Given the description of an element on the screen output the (x, y) to click on. 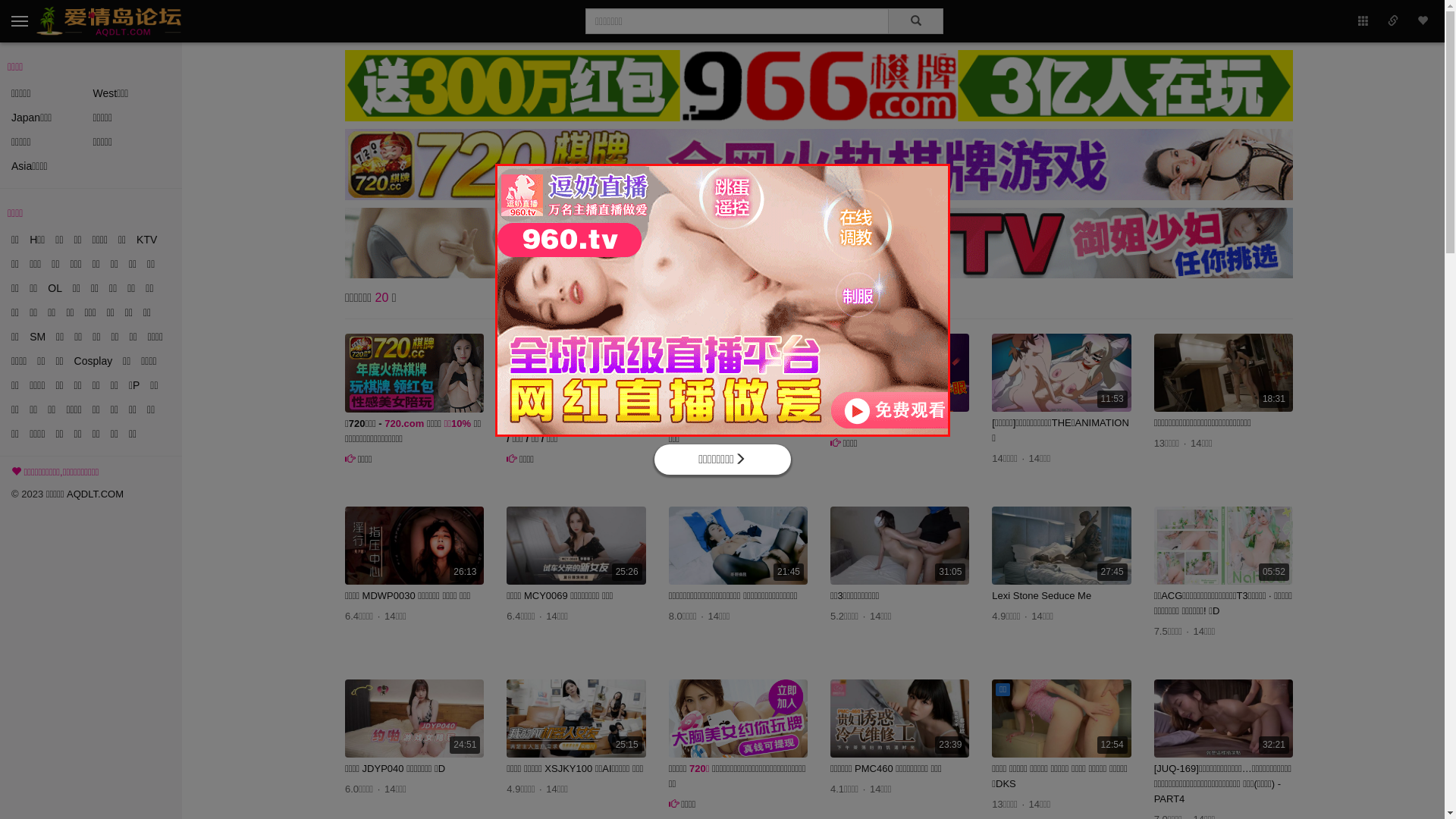
26:13 Element type: text (414, 545)
23:39 Element type: text (899, 718)
32:21 Element type: text (1223, 718)
21:45 Element type: text (737, 545)
OL Element type: text (54, 288)
25:15 Element type: text (575, 718)
Cosplay Element type: text (93, 360)
31:05 Element type: text (899, 545)
KTV Element type: text (146, 239)
18:31 Element type: text (1223, 372)
SM Element type: text (37, 336)
24:51 Element type: text (414, 718)
11:53 Element type: text (1060, 372)
25:26 Element type: text (575, 545)
Lexi Stone Seduce Me Element type: text (1041, 595)
Toggle navigation Element type: text (20, 21)
27:45 Element type: text (1060, 545)
05:52 Element type: text (1223, 545)
